Given the description of an element on the screen output the (x, y) to click on. 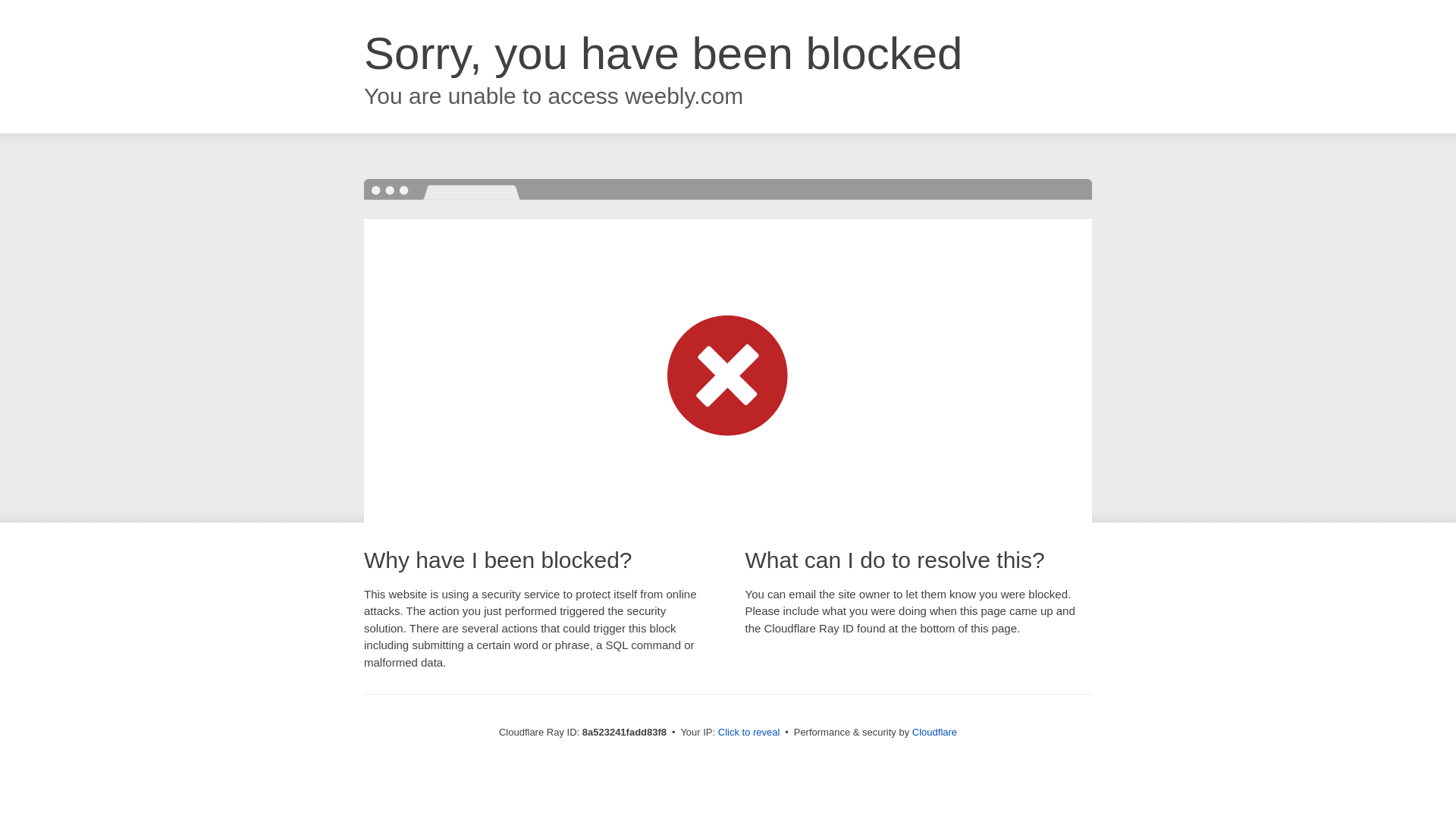
Click to reveal (748, 732)
Cloudflare (934, 731)
